Given the description of an element on the screen output the (x, y) to click on. 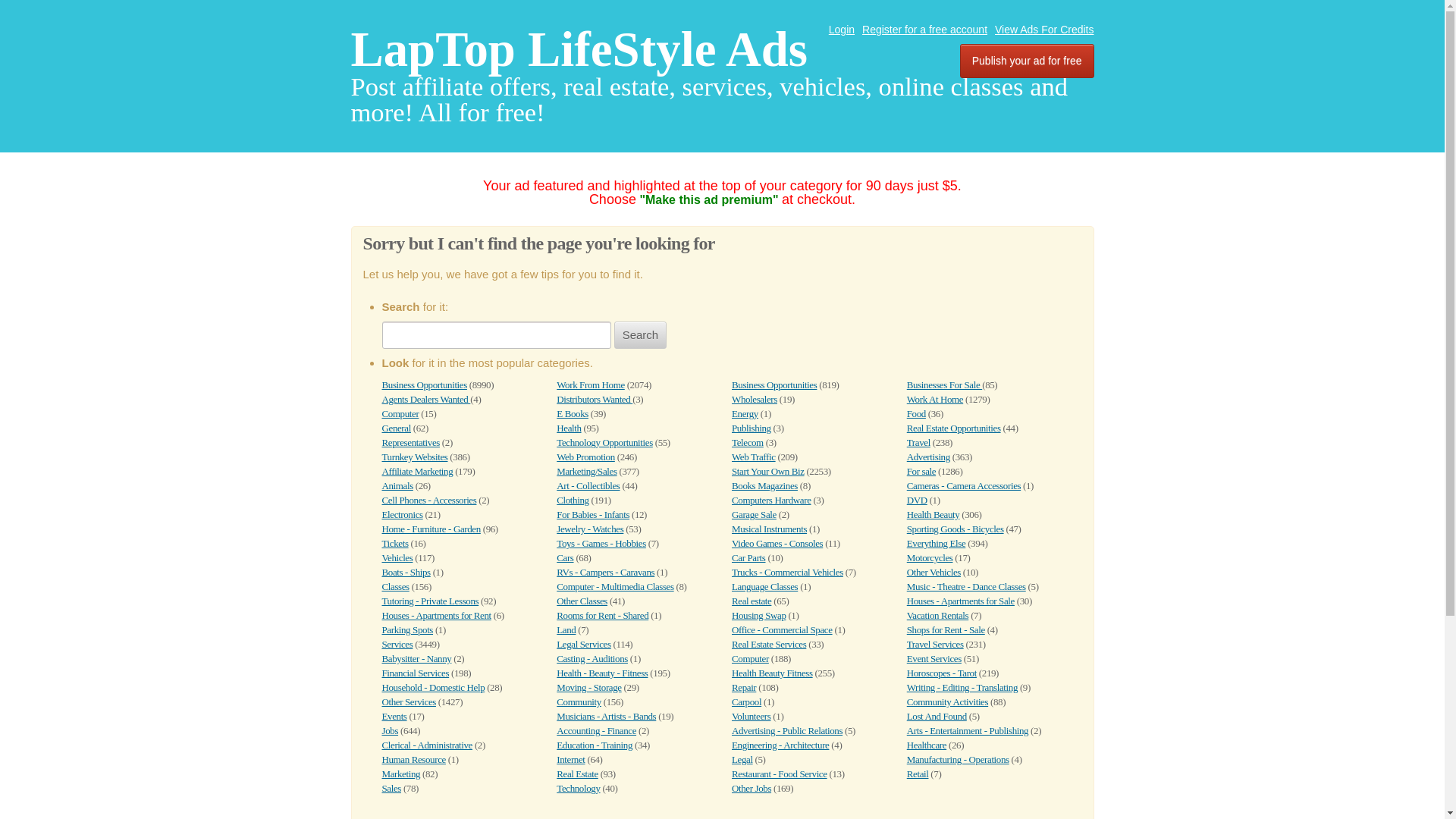
Start Your Own Biz (768, 471)
Art - Collectibles (588, 485)
Telecom (747, 441)
Agents Dealers Wanted (425, 398)
Businesses For Sale (944, 384)
Affiliate Marketing (416, 471)
LapTop LifeStyle Ads (579, 49)
E Books (572, 413)
For sale (921, 471)
Wholesalers (754, 398)
Publishing (751, 428)
Energy (745, 413)
Publish your ad for free (1026, 60)
Web Promotion (585, 456)
Clothing (572, 500)
